Given the description of an element on the screen output the (x, y) to click on. 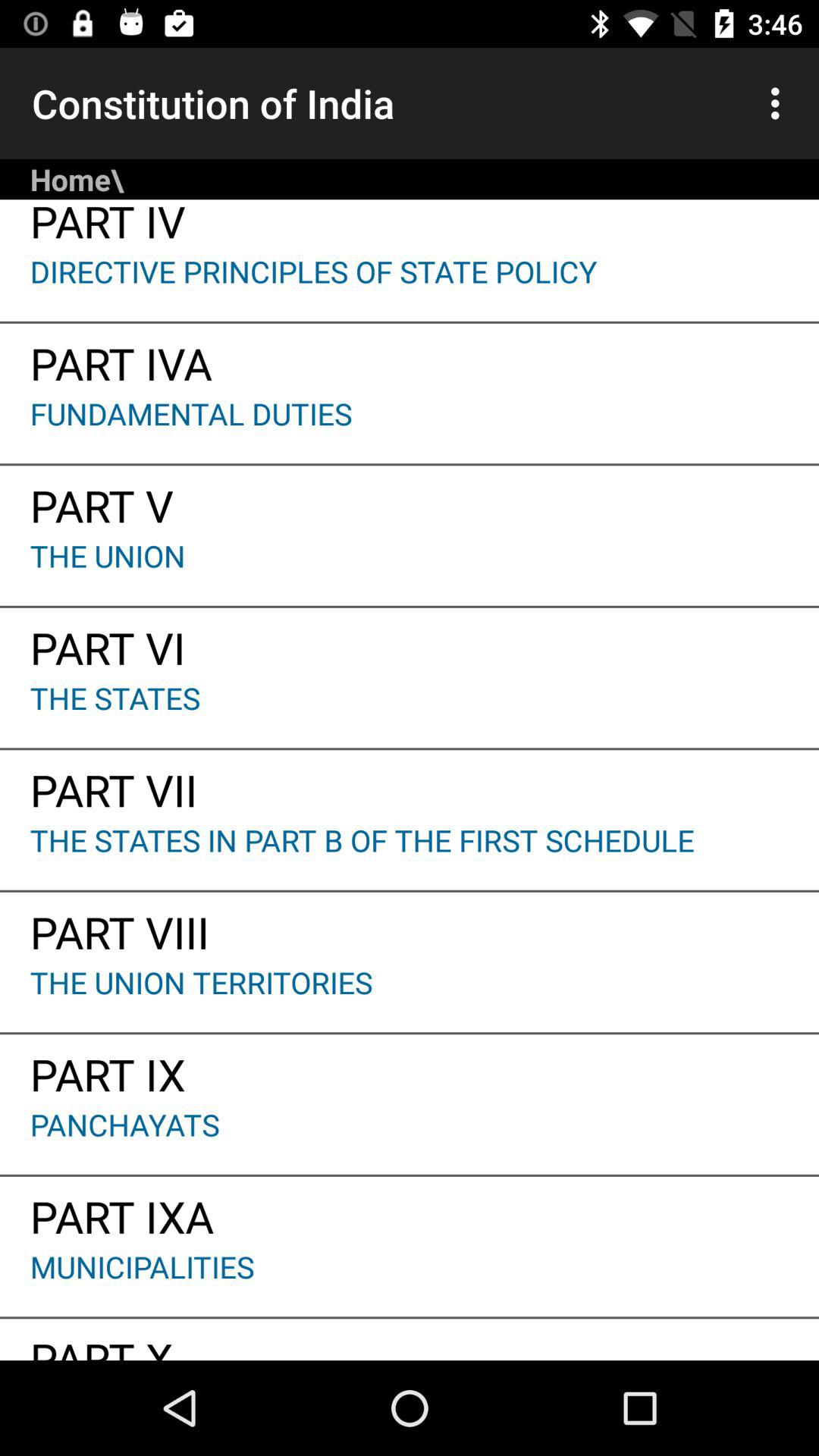
flip to directive principles of item (409, 286)
